Given the description of an element on the screen output the (x, y) to click on. 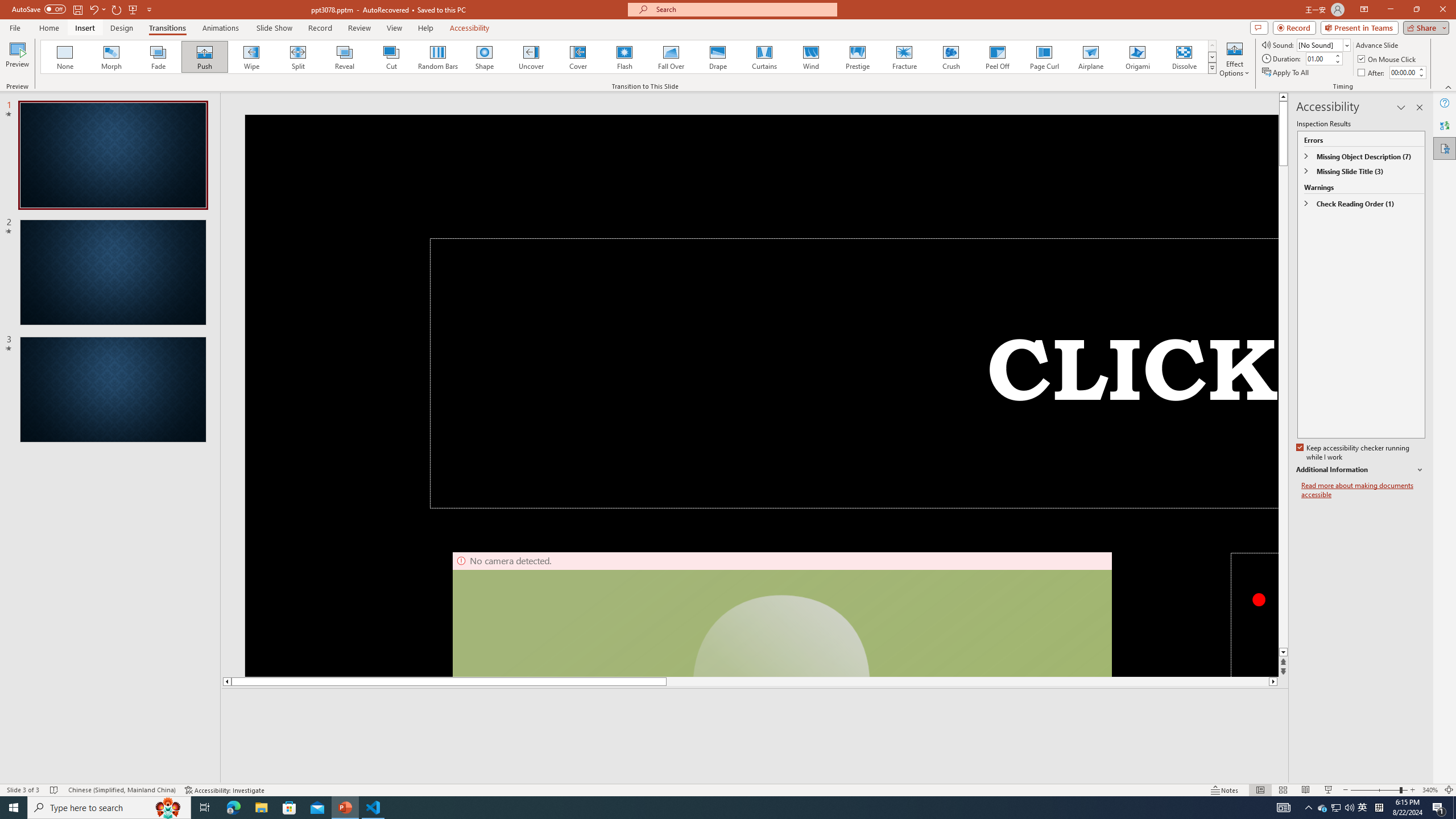
Origami (1136, 56)
None (65, 56)
AutomationID: AnimationTransitionGallery (628, 56)
Prestige (857, 56)
Peel Off (997, 56)
Shape (484, 56)
